Given the description of an element on the screen output the (x, y) to click on. 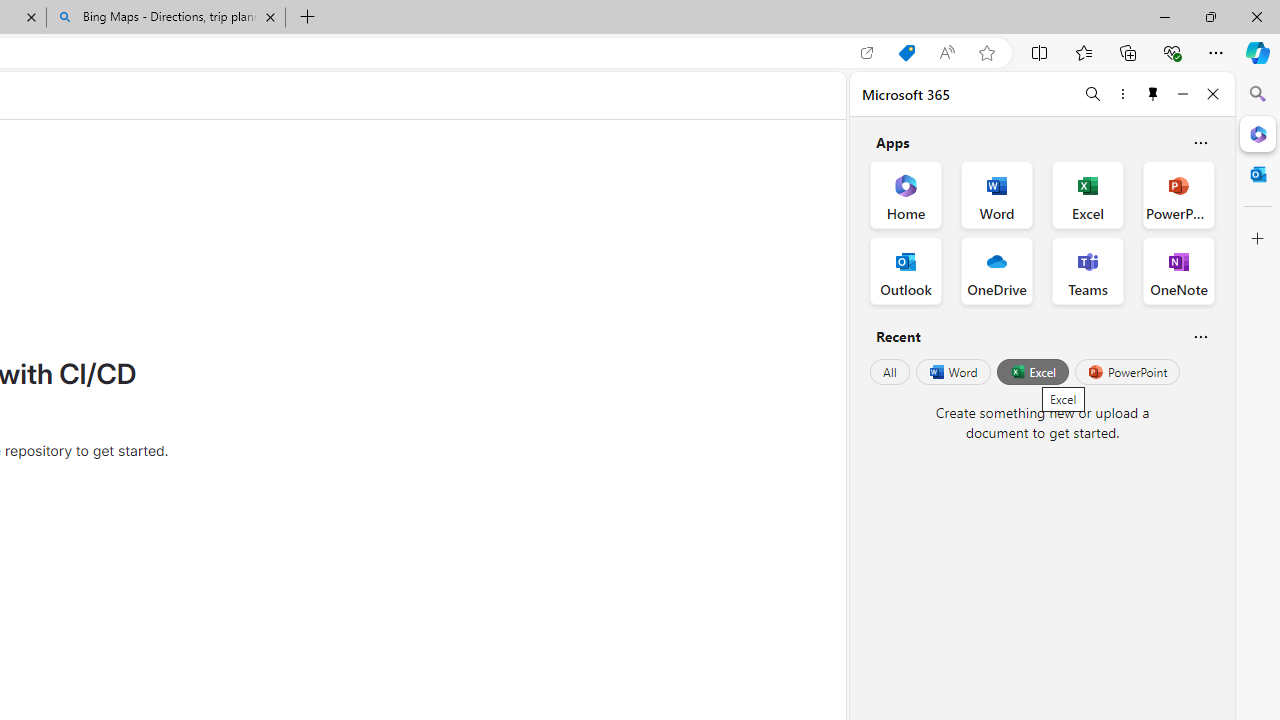
Home Office App (906, 194)
OneDrive Office App (996, 270)
Excel Office App (1087, 194)
PowerPoint Office App (1178, 194)
PowerPoint (1127, 372)
Teams Office App (1087, 270)
Open in app (867, 53)
